Given the description of an element on the screen output the (x, y) to click on. 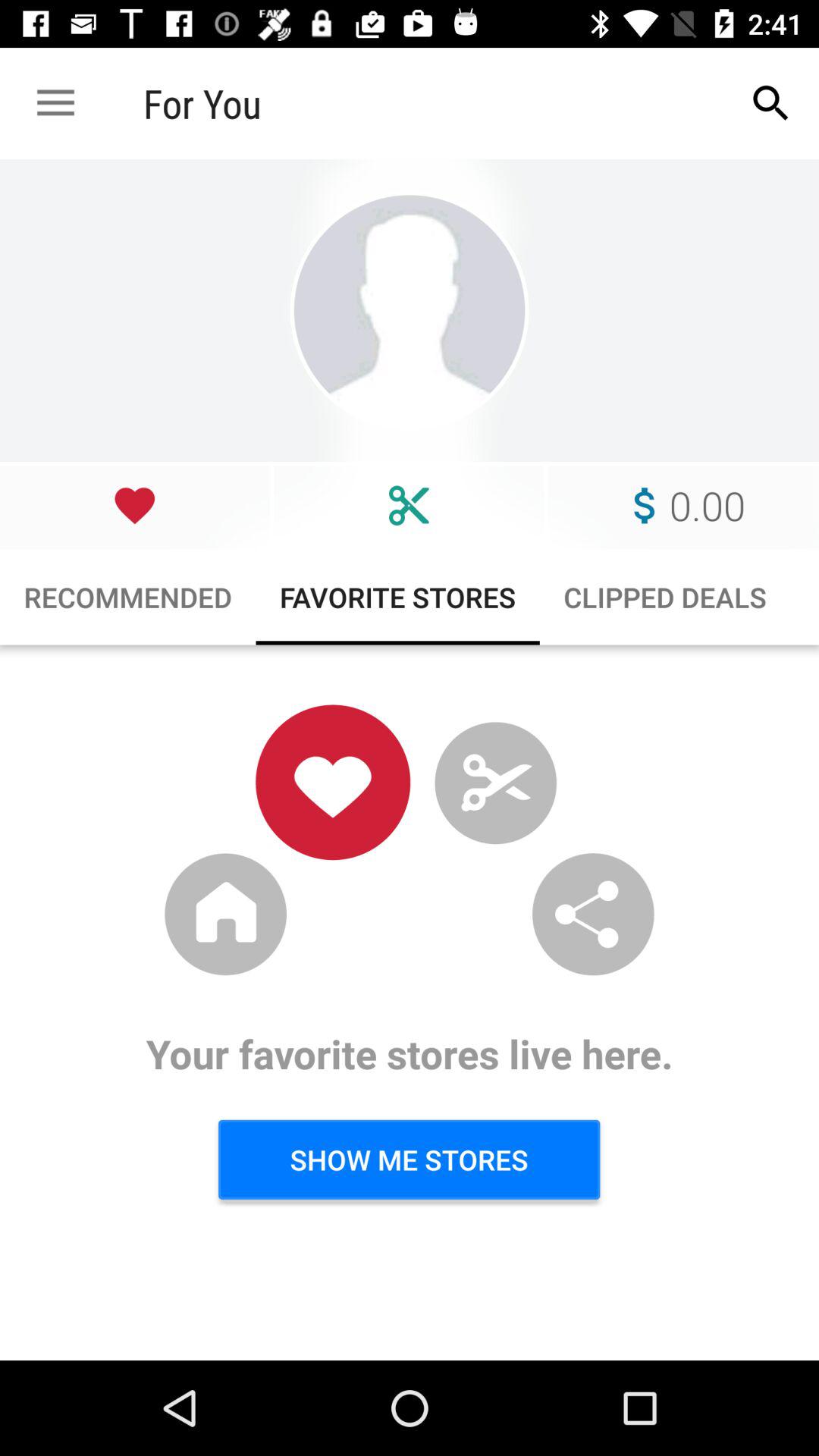
a place to edit profile picture (409, 310)
